Given the description of an element on the screen output the (x, y) to click on. 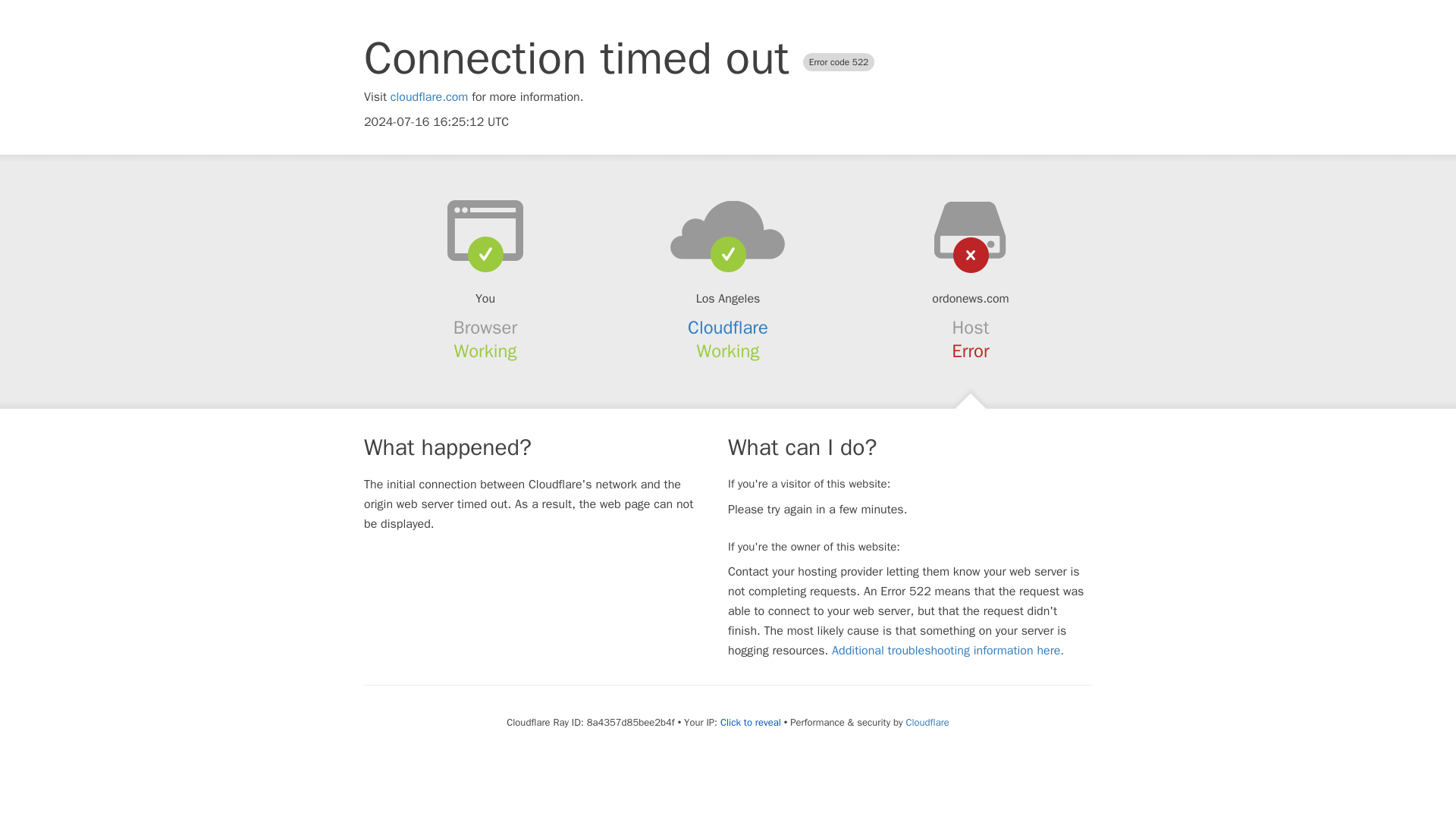
Cloudflare (727, 327)
Cloudflare (927, 721)
Click to reveal (750, 722)
Additional troubleshooting information here. (947, 650)
cloudflare.com (429, 96)
